Given the description of an element on the screen output the (x, y) to click on. 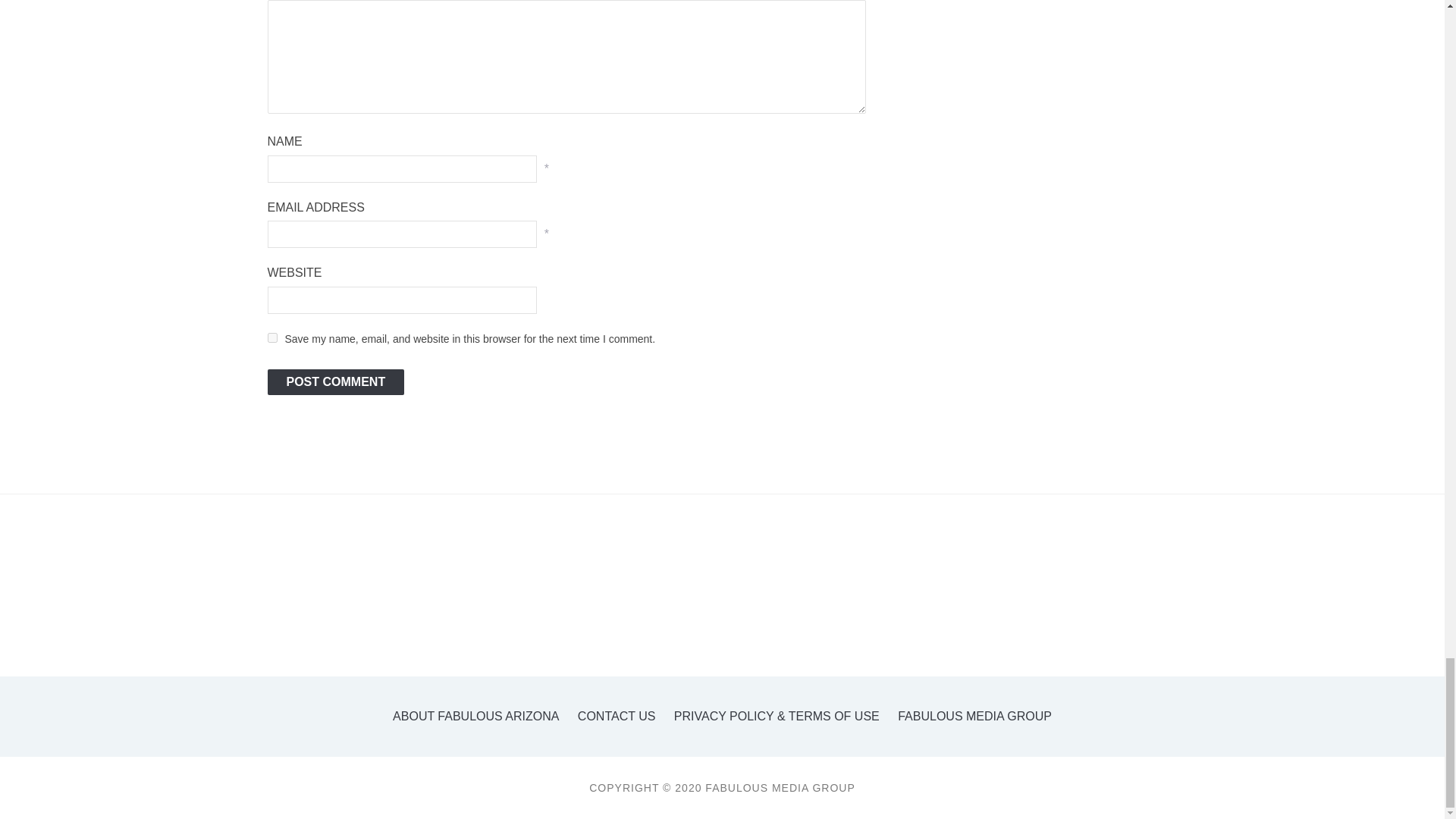
Post Comment (335, 381)
yes (271, 337)
